Given the description of an element on the screen output the (x, y) to click on. 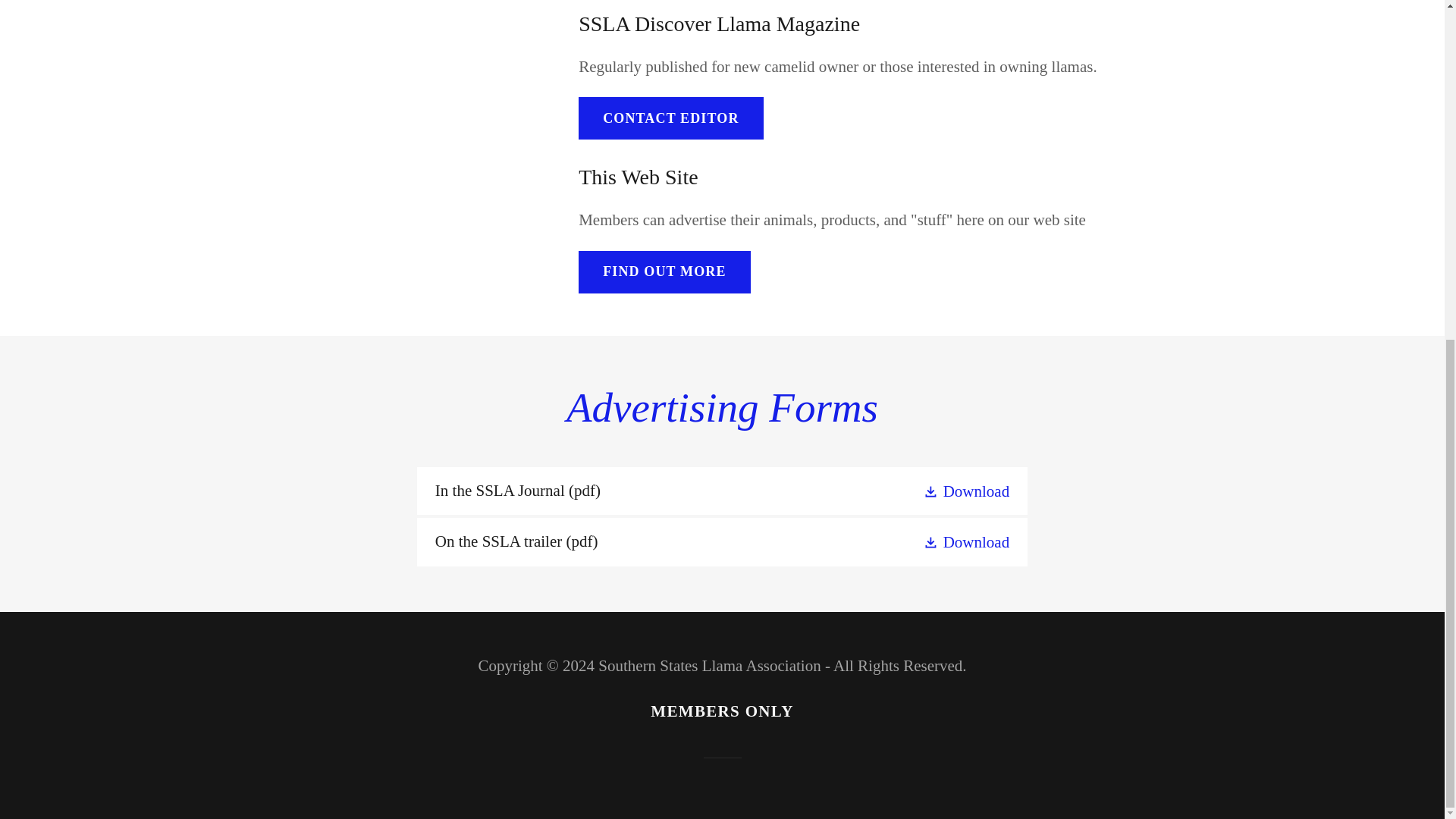
CONTACT EDITOR (670, 118)
FIND OUT MORE (663, 271)
MEMBERS ONLY (722, 711)
